Given the description of an element on the screen output the (x, y) to click on. 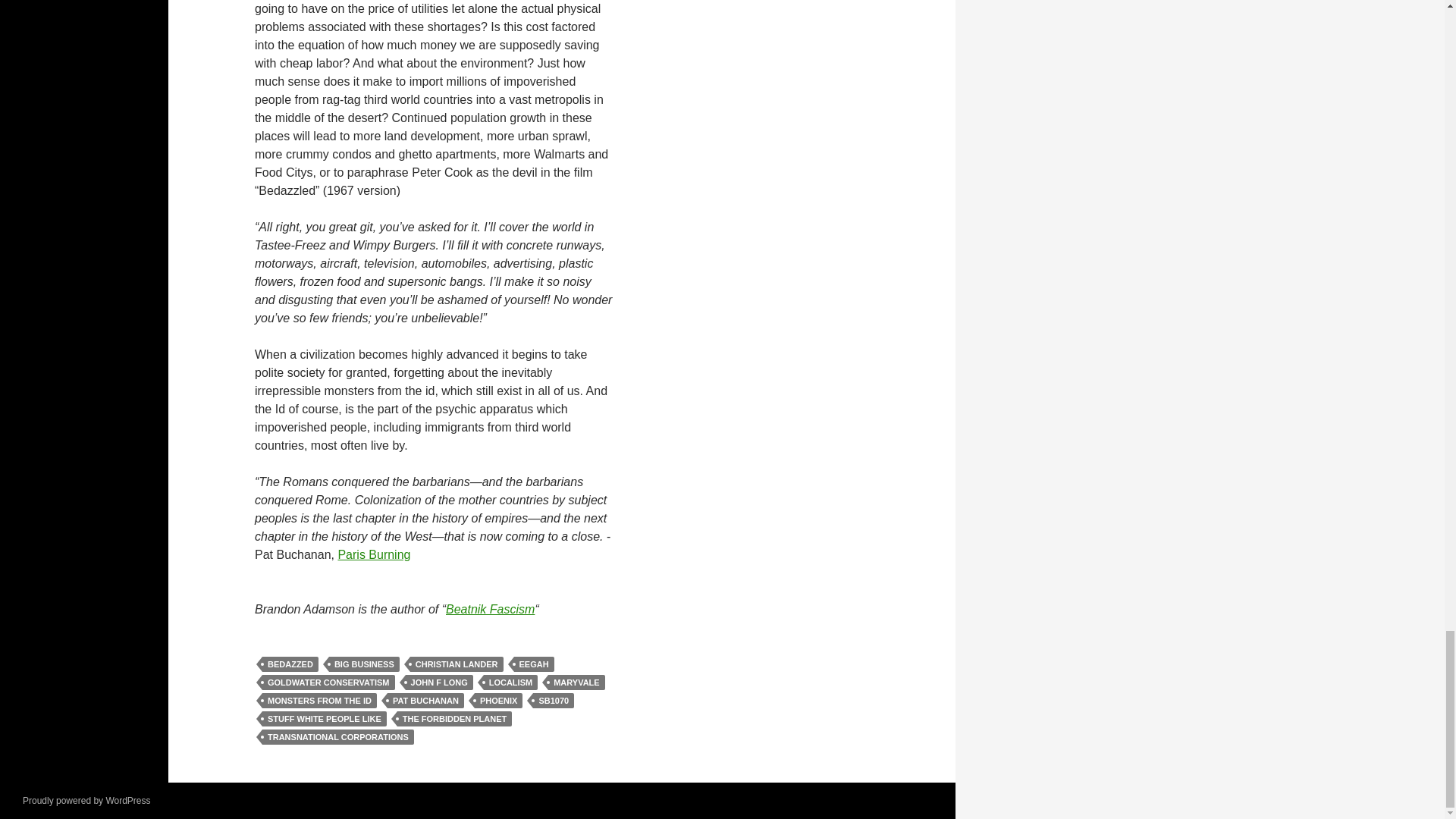
LOCALISM (510, 682)
PAT BUCHANAN (425, 700)
Beatnik Fascism (489, 608)
Paris Burning (373, 554)
CHRISTIAN LANDER (456, 663)
BEDAZZED (290, 663)
BIG BUSINESS (363, 663)
TRANSNATIONAL CORPORATIONS (337, 736)
MONSTERS FROM THE ID (319, 700)
JOHN F LONG (439, 682)
STUFF WHITE PEOPLE LIKE (324, 718)
MARYVALE (576, 682)
PHOENIX (498, 700)
THE FORBIDDEN PLANET (454, 718)
GOLDWATER CONSERVATISM (328, 682)
